Given the description of an element on the screen output the (x, y) to click on. 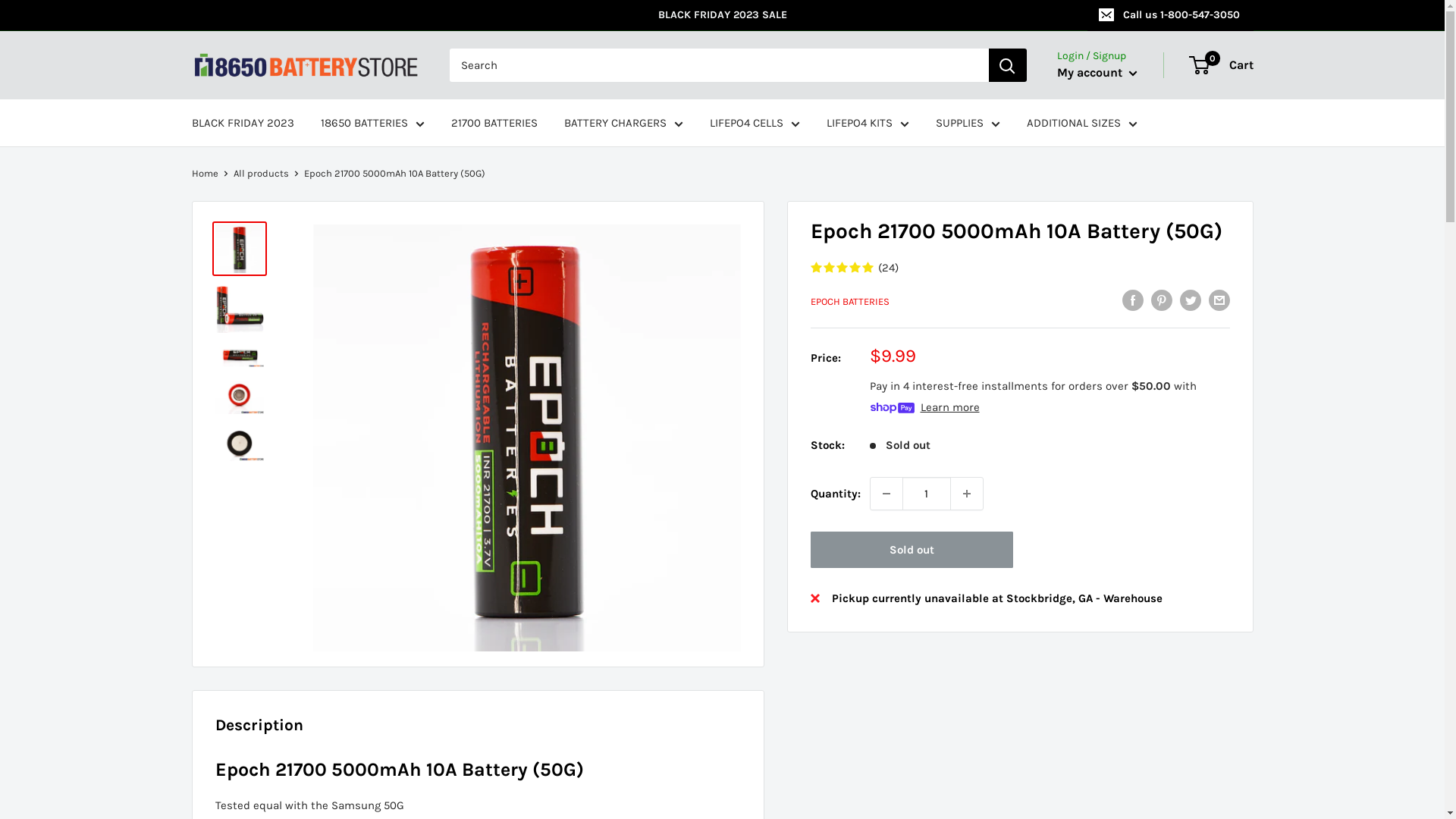
21700 BATTERIES Element type: text (493, 122)
Sold out Element type: text (911, 549)
Increase quantity by 1 Element type: hover (966, 493)
Decrease quantity by 1 Element type: hover (886, 493)
SUPPLIES Element type: text (967, 122)
 (24) Element type: text (1019, 268)
LIFEPO4 KITS Element type: text (867, 122)
18650BatteryStore.com Element type: text (304, 65)
LIFEPO4 CELLS Element type: text (754, 122)
Call us 1-800-547-3050 Element type: text (1170, 15)
0
Cart Element type: text (1221, 64)
ADDITIONAL SIZES Element type: text (1081, 122)
My account Element type: text (1097, 72)
BLACK FRIDAY 2023 SALE Element type: text (638, 15)
BATTERY CHARGERS Element type: text (623, 122)
Home Element type: text (204, 172)
18650 BATTERIES Element type: text (371, 122)
EPOCH BATTERIES Element type: text (848, 301)
BLACK FRIDAY 2023 Element type: text (242, 122)
All products Element type: text (260, 172)
